Given the description of an element on the screen output the (x, y) to click on. 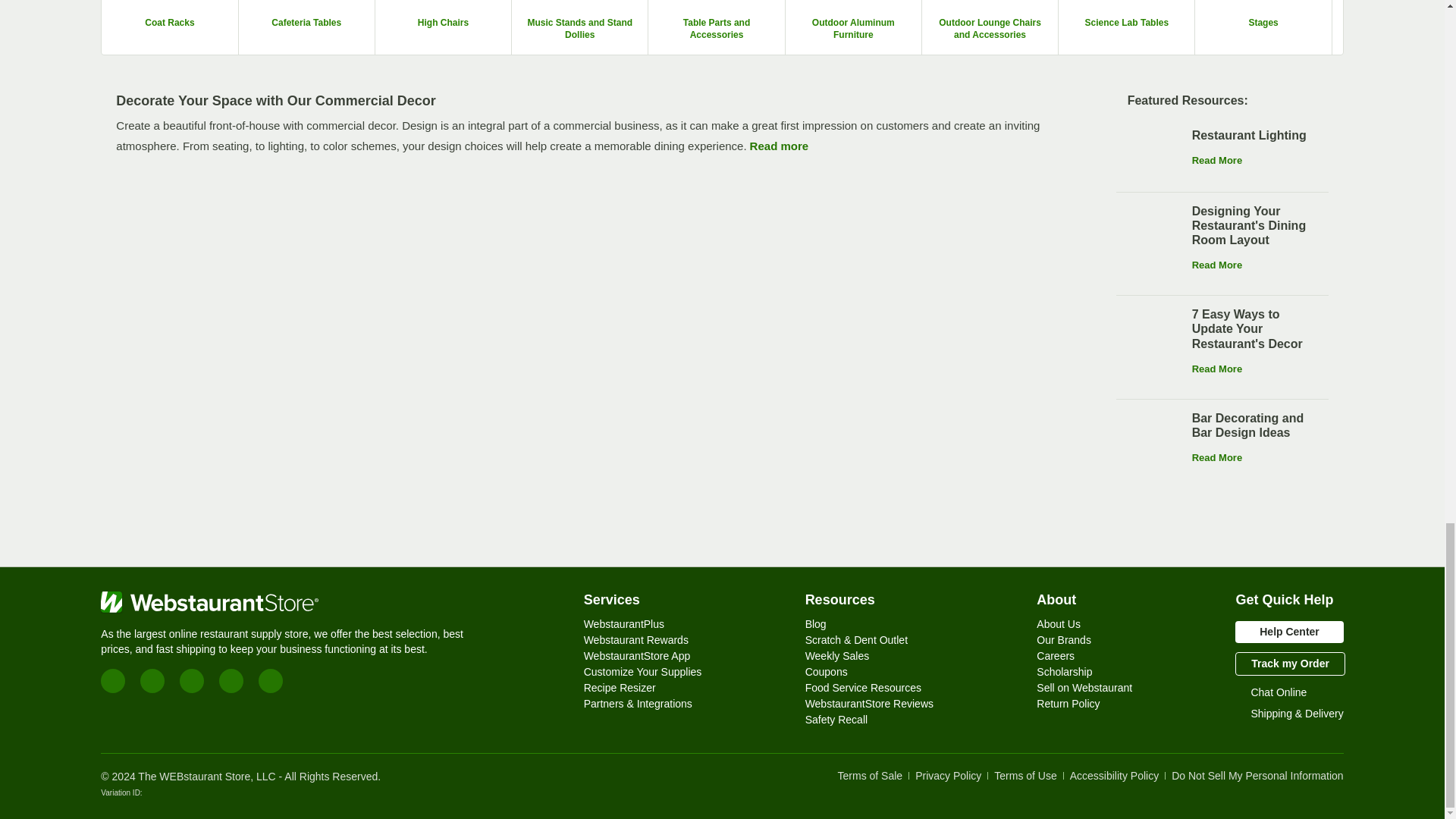
Cafeteria Tables (306, 27)
Coat Racks (169, 27)
High Chairs (443, 27)
Science Lab Tables (1126, 22)
Coat Racks (168, 22)
Music Stands and Stand Dollies (579, 27)
Science Lab Tables (1126, 27)
Outdoor Lounge Chairs and Accessories (989, 27)
Stages (1263, 27)
Music Stands and Stand Dollies (579, 28)
